Given the description of an element on the screen output the (x, y) to click on. 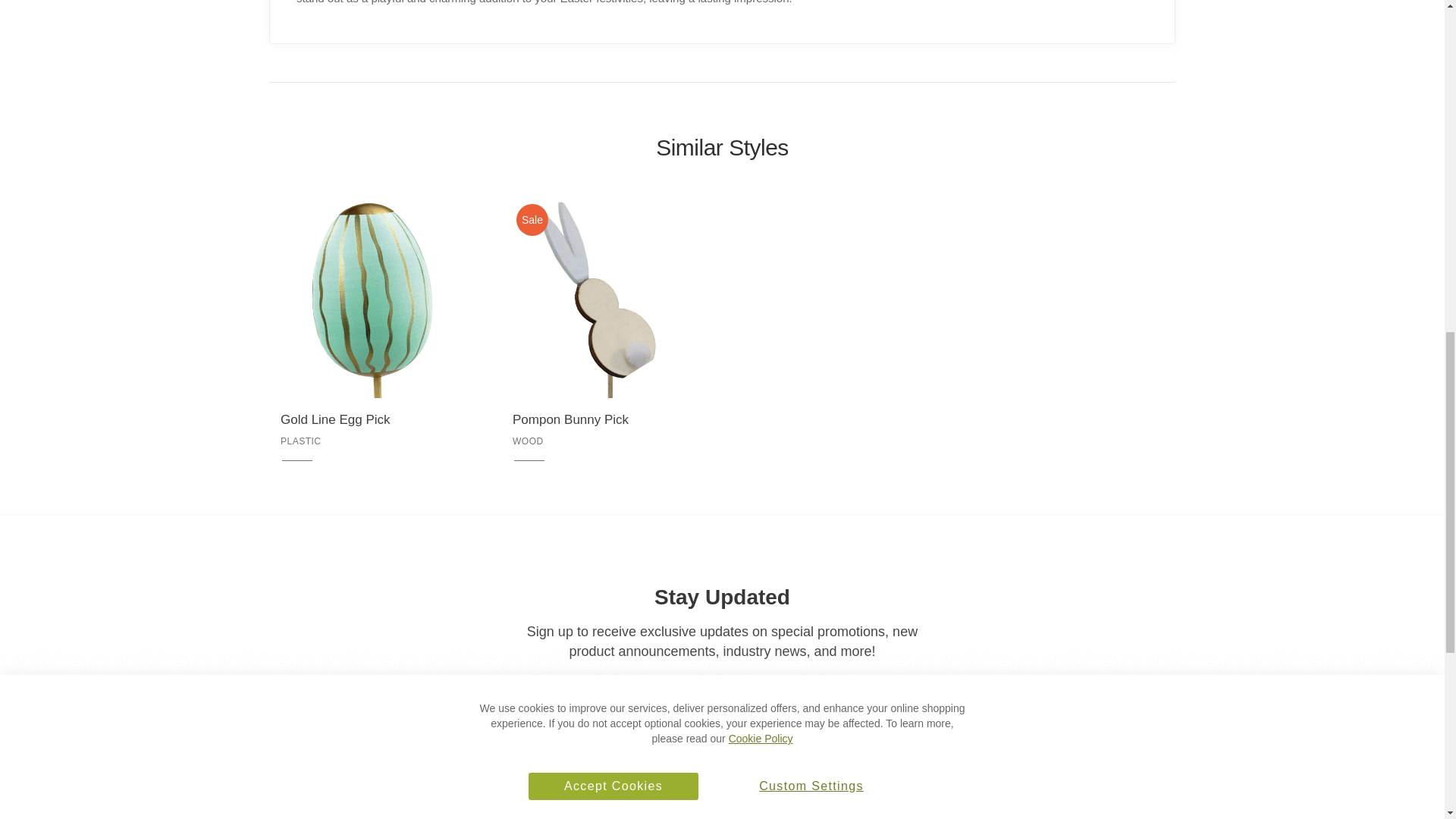
Gold Line Egg Pick (374, 419)
Pompon bunny pick (605, 419)
Subscribe (885, 694)
